Given the description of an element on the screen output the (x, y) to click on. 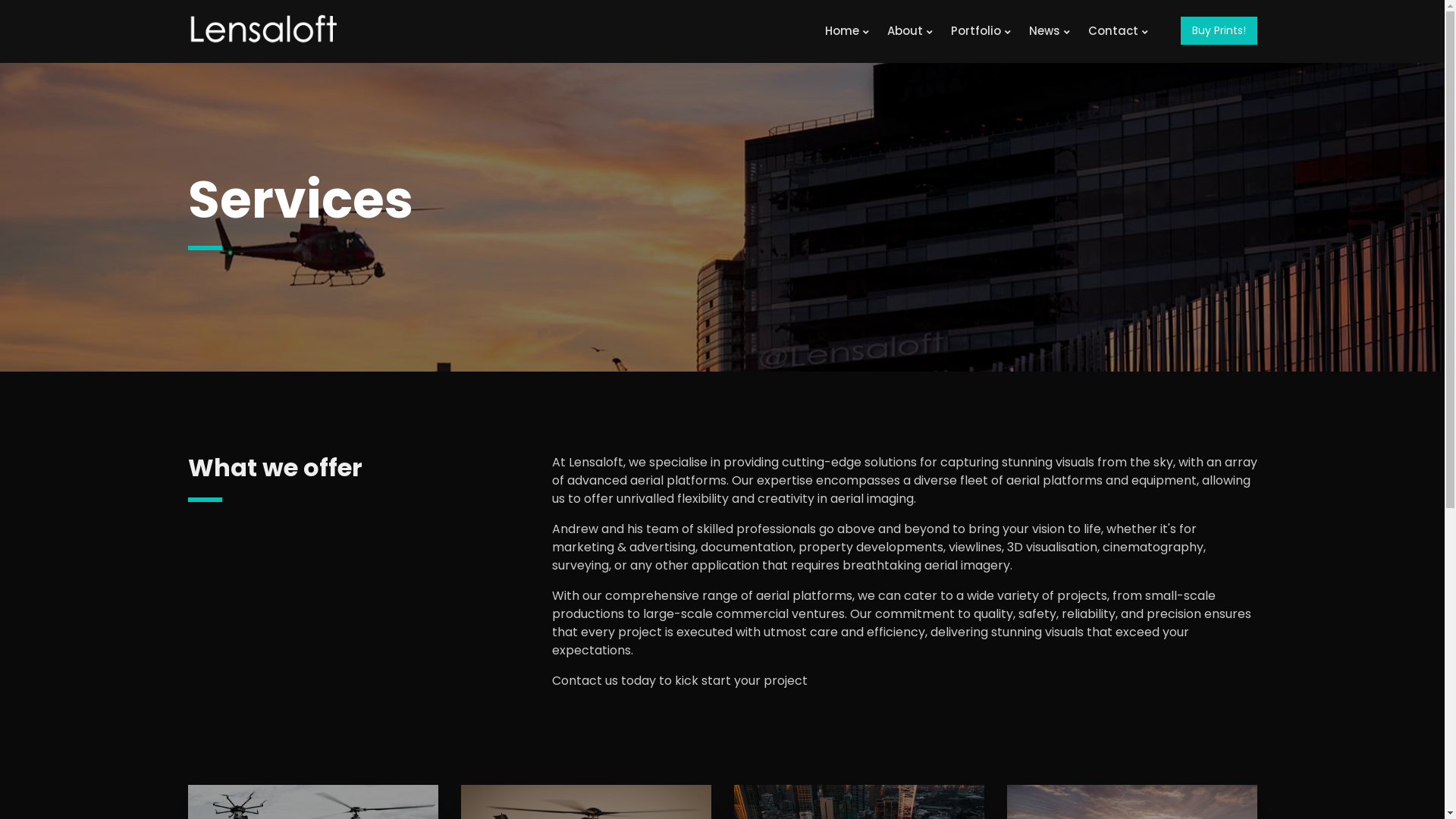
Buy Prints! Element type: text (1217, 30)
Contact Element type: text (1117, 31)
Portfolio Element type: text (980, 31)
News Element type: text (1048, 31)
Home Element type: text (847, 31)
About Element type: text (909, 31)
